Given the description of an element on the screen output the (x, y) to click on. 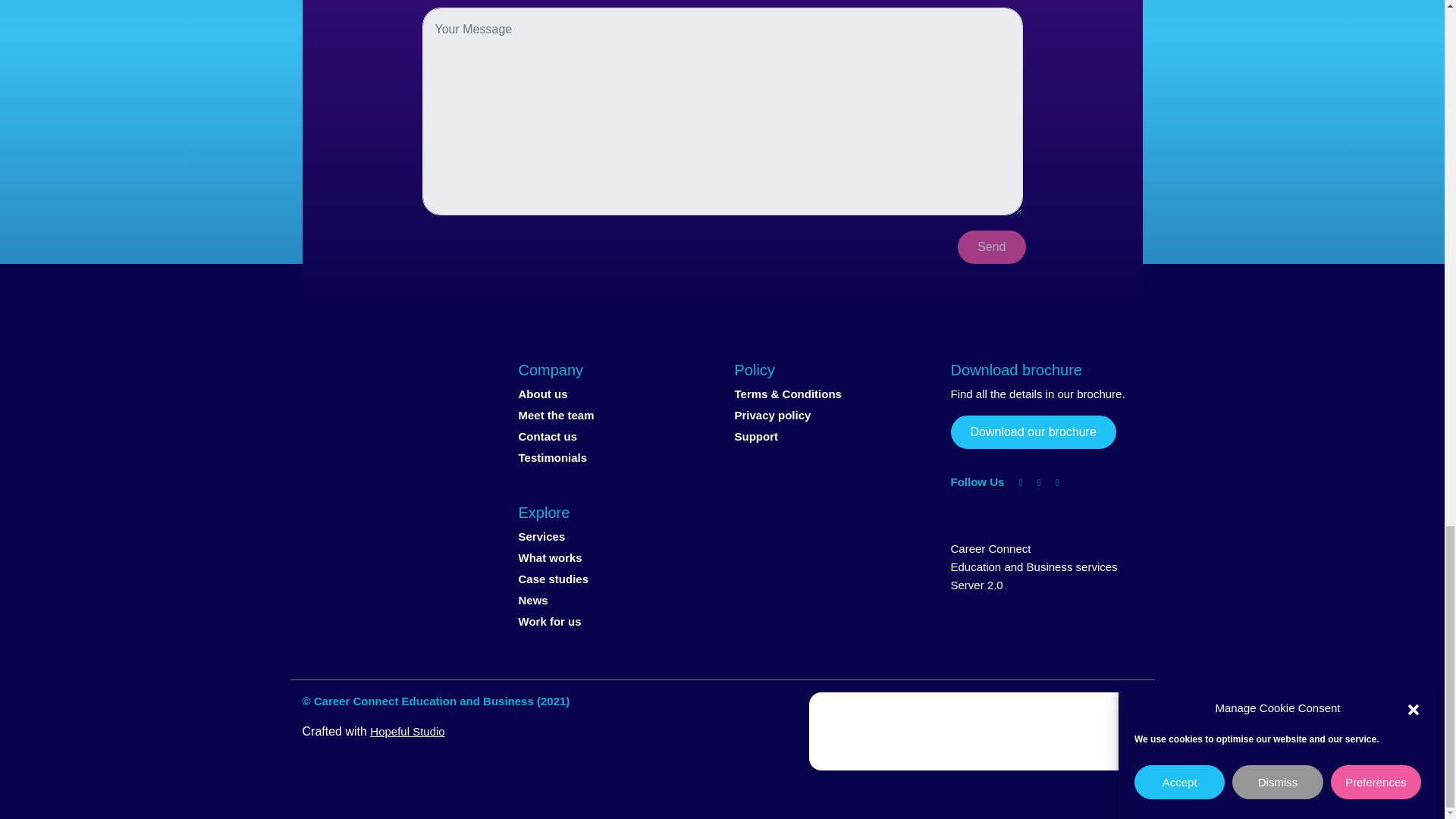
Meet the team (556, 414)
Send (991, 246)
Contact us (548, 436)
What works (550, 557)
Testimonials (553, 457)
Services (542, 535)
Send (991, 246)
Case studies (553, 578)
About us (542, 393)
